Given the description of an element on the screen output the (x, y) to click on. 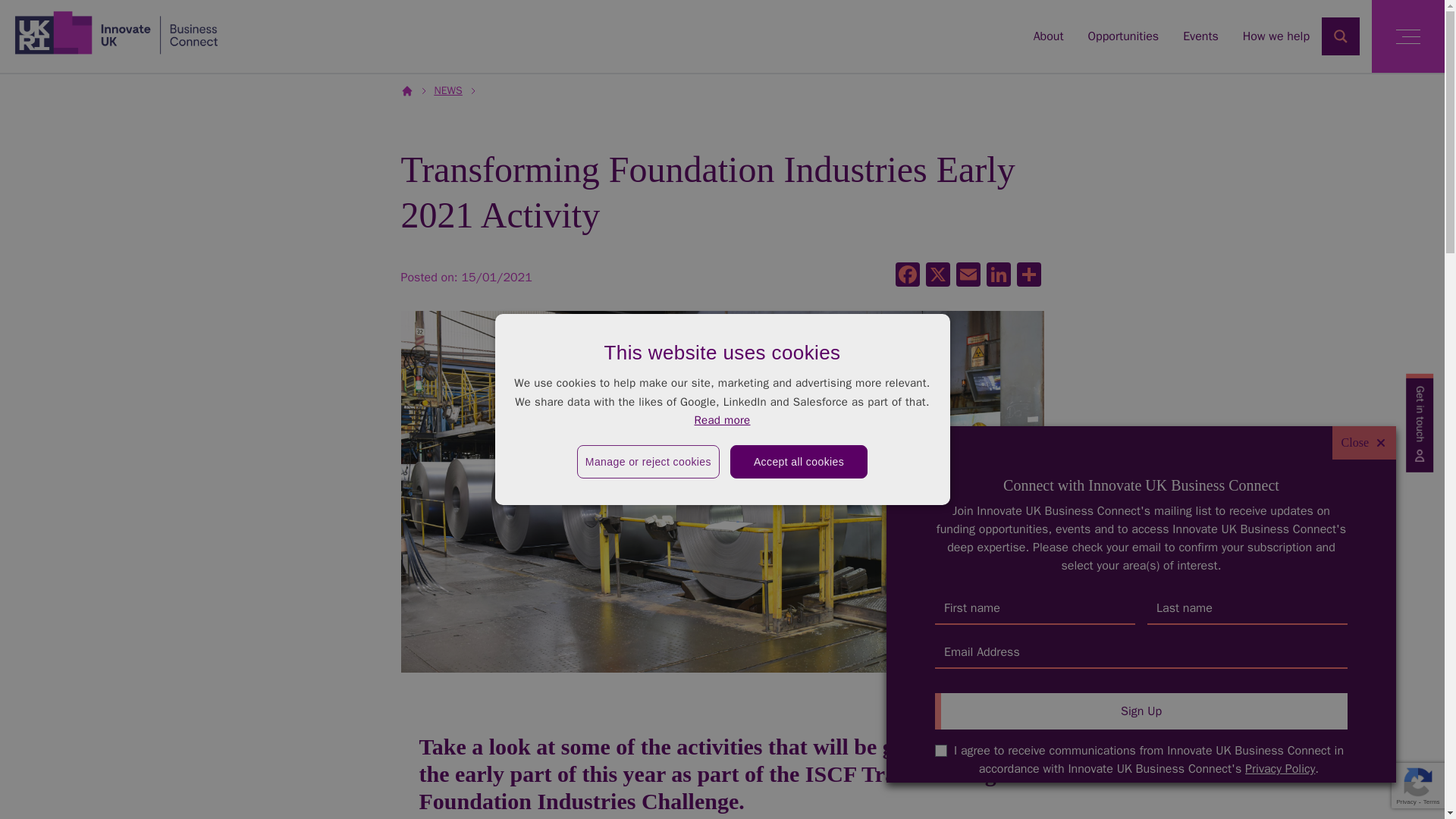
on (940, 750)
Home (116, 32)
X (936, 276)
How we help (1275, 36)
Email (967, 276)
Sign Up (1141, 710)
About (1048, 36)
LinkedIn (997, 276)
Events (1200, 36)
Facebook (906, 276)
Opportunities (1122, 36)
